Given the description of an element on the screen output the (x, y) to click on. 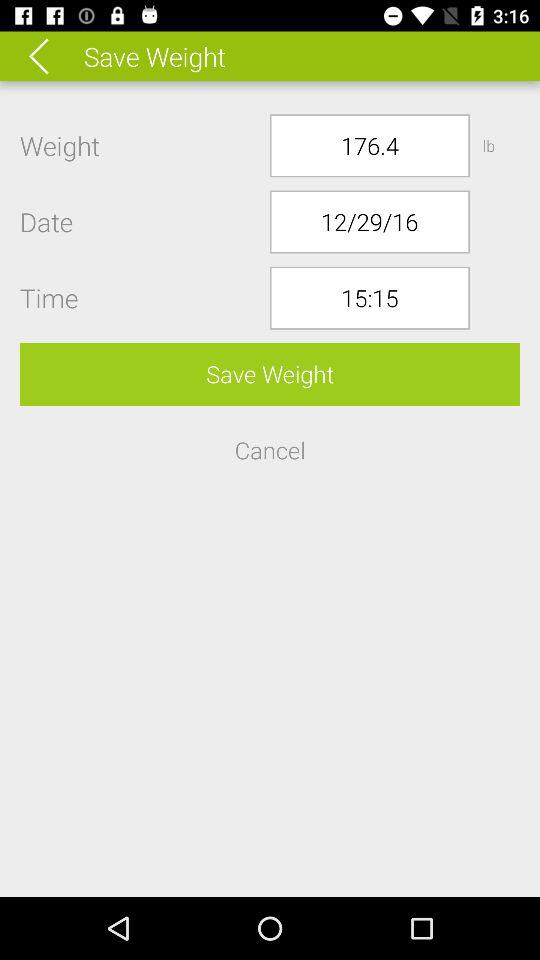
press app to the left of save weight app (52, 56)
